Given the description of an element on the screen output the (x, y) to click on. 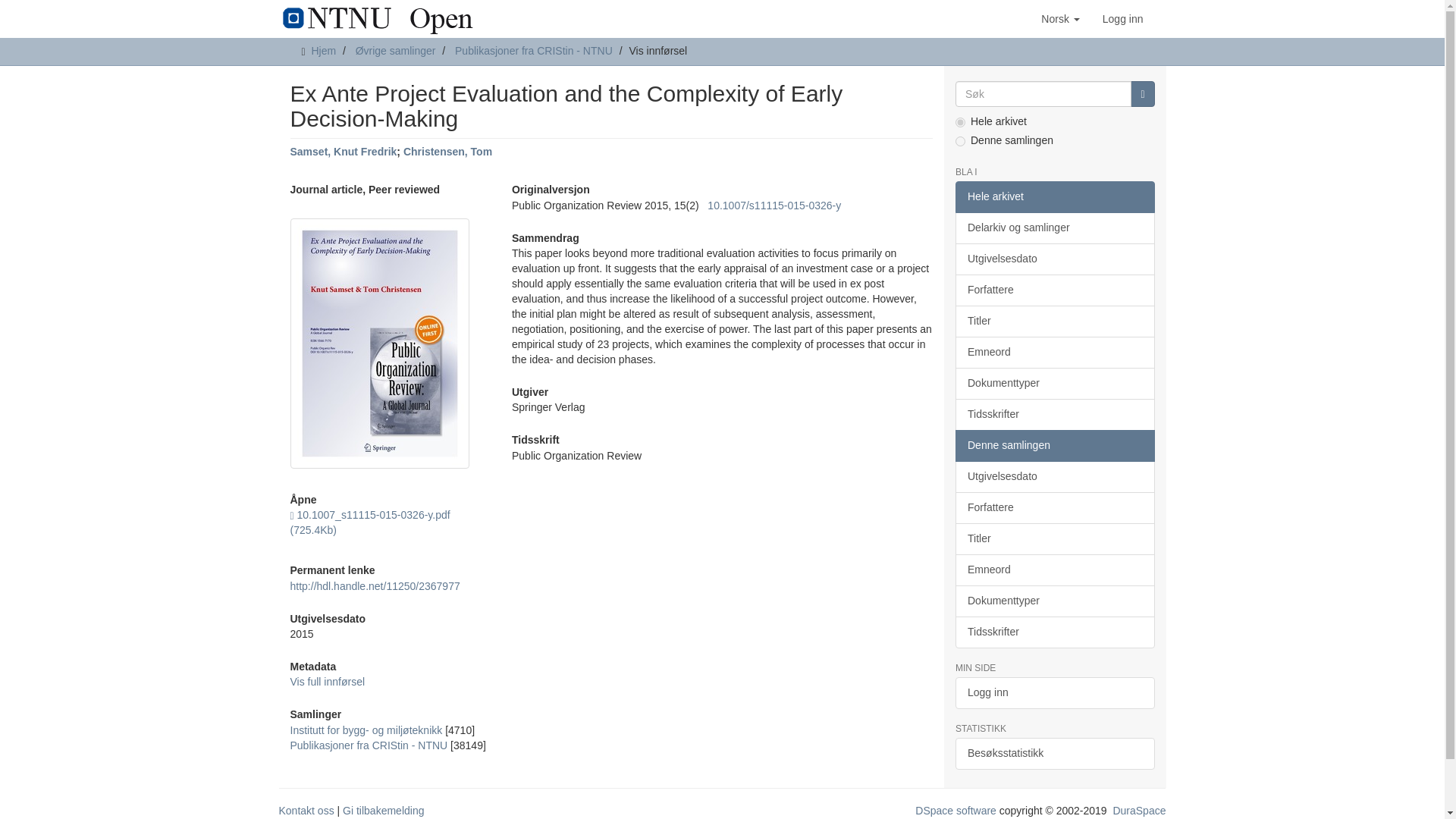
Norsk  (1059, 18)
Forfattere (1054, 290)
Publikasjoner fra CRIStin - NTNU (367, 745)
Christensen, Tom (447, 151)
Publikasjoner fra CRIStin - NTNU (533, 50)
Samset, Knut Fredrik (342, 151)
Titler (1054, 321)
Hjem (323, 50)
Hele arkivet (1054, 196)
Logg inn (1122, 18)
Utgivelsesdato (1054, 259)
Delarkiv og samlinger (1054, 228)
